Given the description of an element on the screen output the (x, y) to click on. 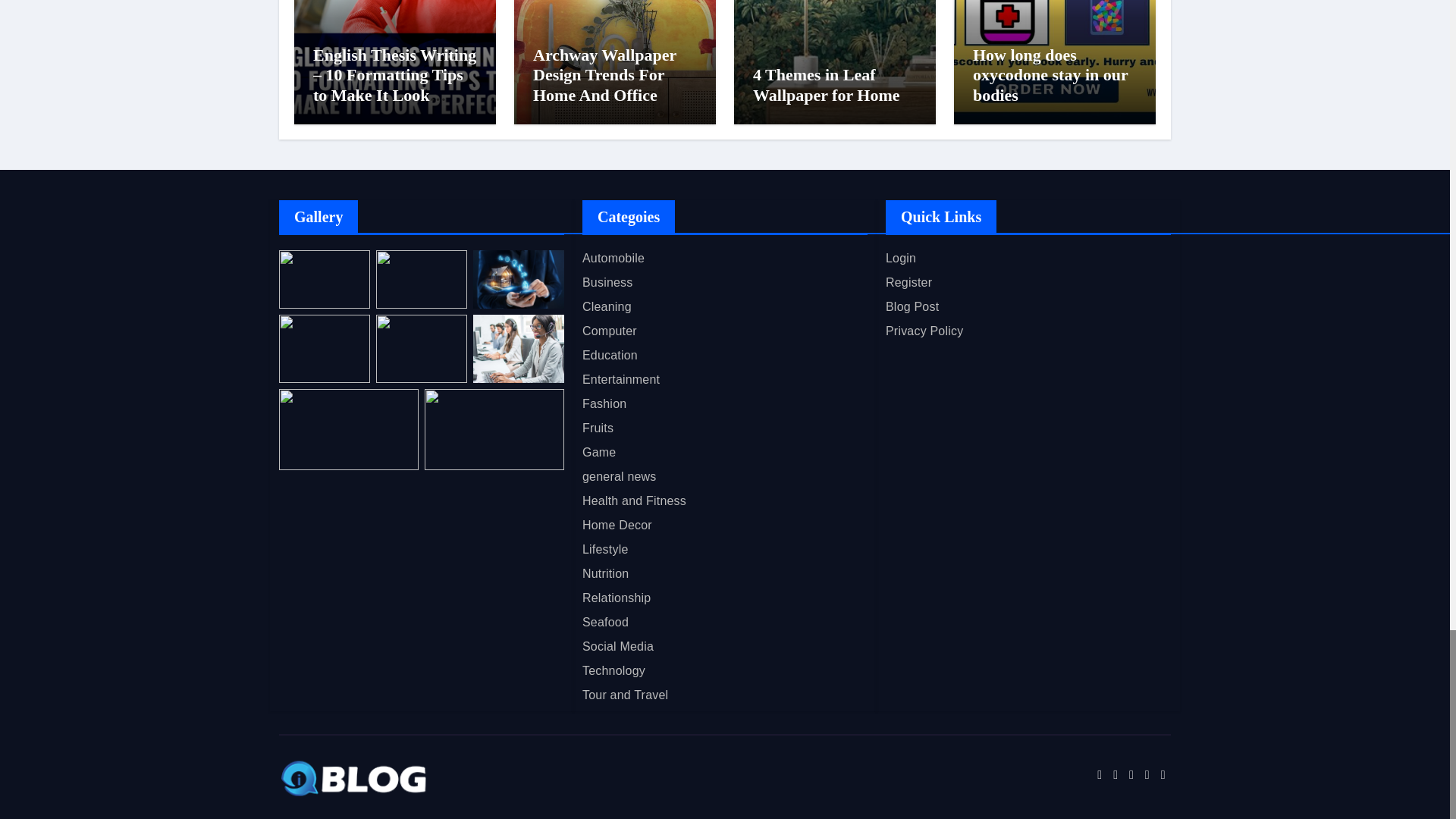
Permalink to: How long does oxycodone stay in our bodies (1049, 74)
Permalink to: 4 Themes in Leaf Wallpaper for Home (825, 84)
